Given the description of an element on the screen output the (x, y) to click on. 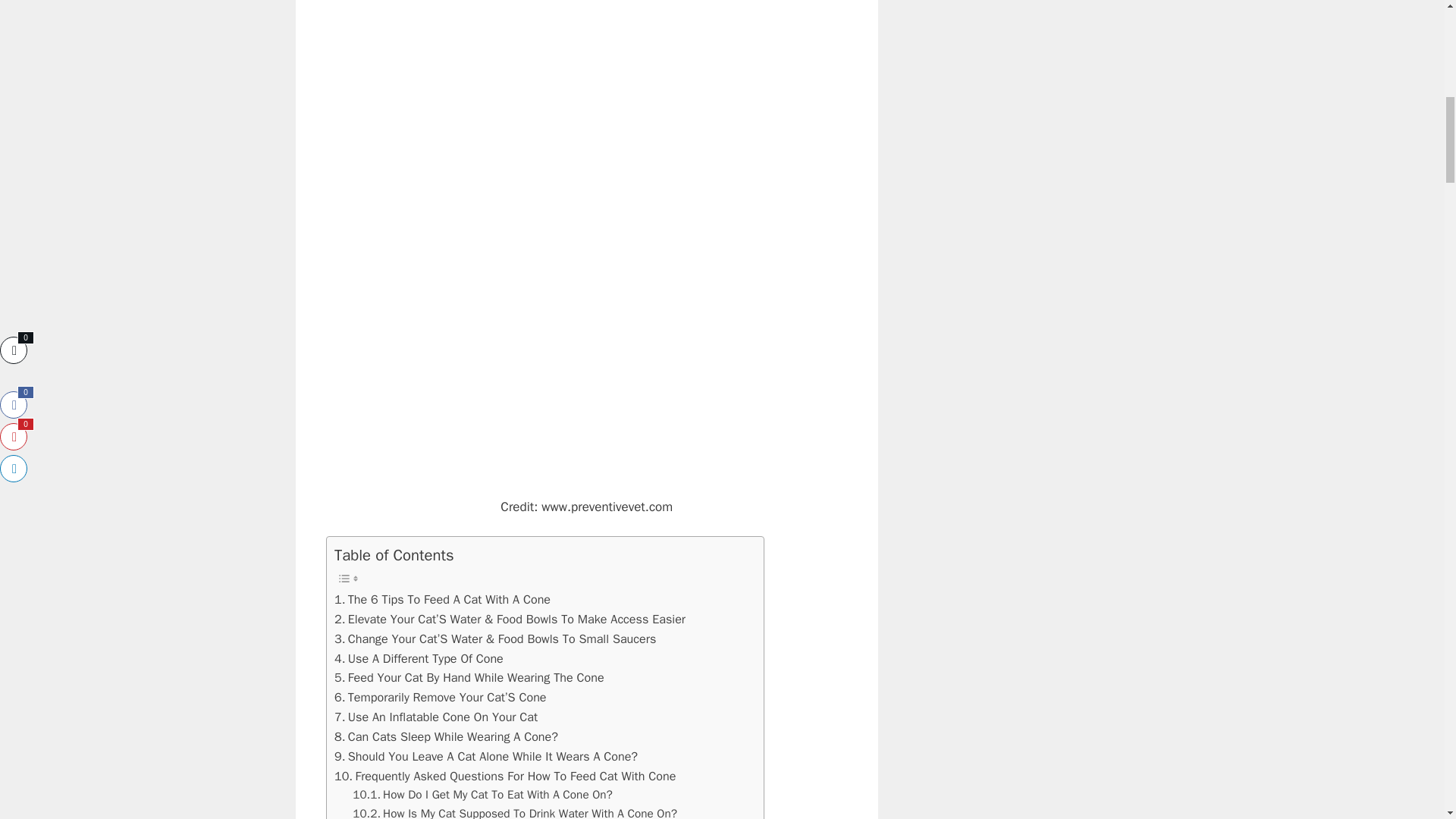
Frequently Asked Questions For How To Feed Cat With Cone (504, 776)
Feed Your Cat By Hand While Wearing The Cone (469, 677)
Should You Leave A Cat Alone While It Wears A Cone? (485, 756)
The 6 Tips To Feed A Cat With A Cone (442, 599)
The 6 Tips To Feed A Cat With A Cone (442, 599)
Frequently Asked Questions For How To Feed Cat With Cone (504, 776)
Should You Leave A Cat Alone While It Wears A Cone? (485, 756)
Use An Inflatable Cone On Your Cat (435, 717)
Use An Inflatable Cone On Your Cat (435, 717)
Use A Different Type Of Cone (418, 659)
